Given the description of an element on the screen output the (x, y) to click on. 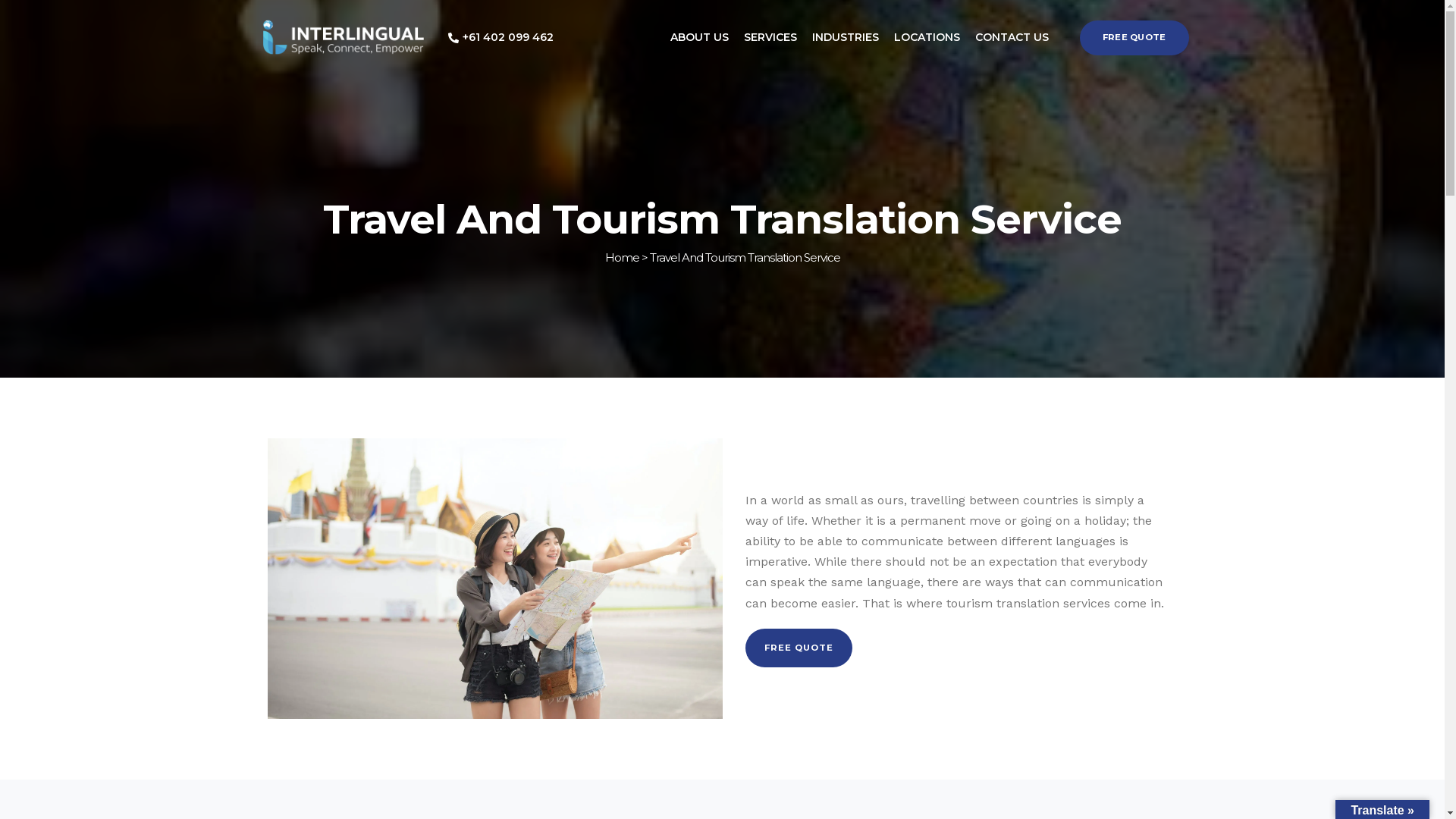
INDUSTRIES Element type: text (844, 37)
LOCATIONS Element type: text (925, 37)
+61 402 099 462 Element type: text (499, 37)
Home Element type: text (622, 257)
CONTACT US Element type: text (1011, 37)
ABOUT US Element type: text (699, 37)
SERVICES Element type: text (769, 37)
FREE QUOTE Element type: text (797, 648)
FREE QUOTE Element type: text (1134, 38)
